Given the description of an element on the screen output the (x, y) to click on. 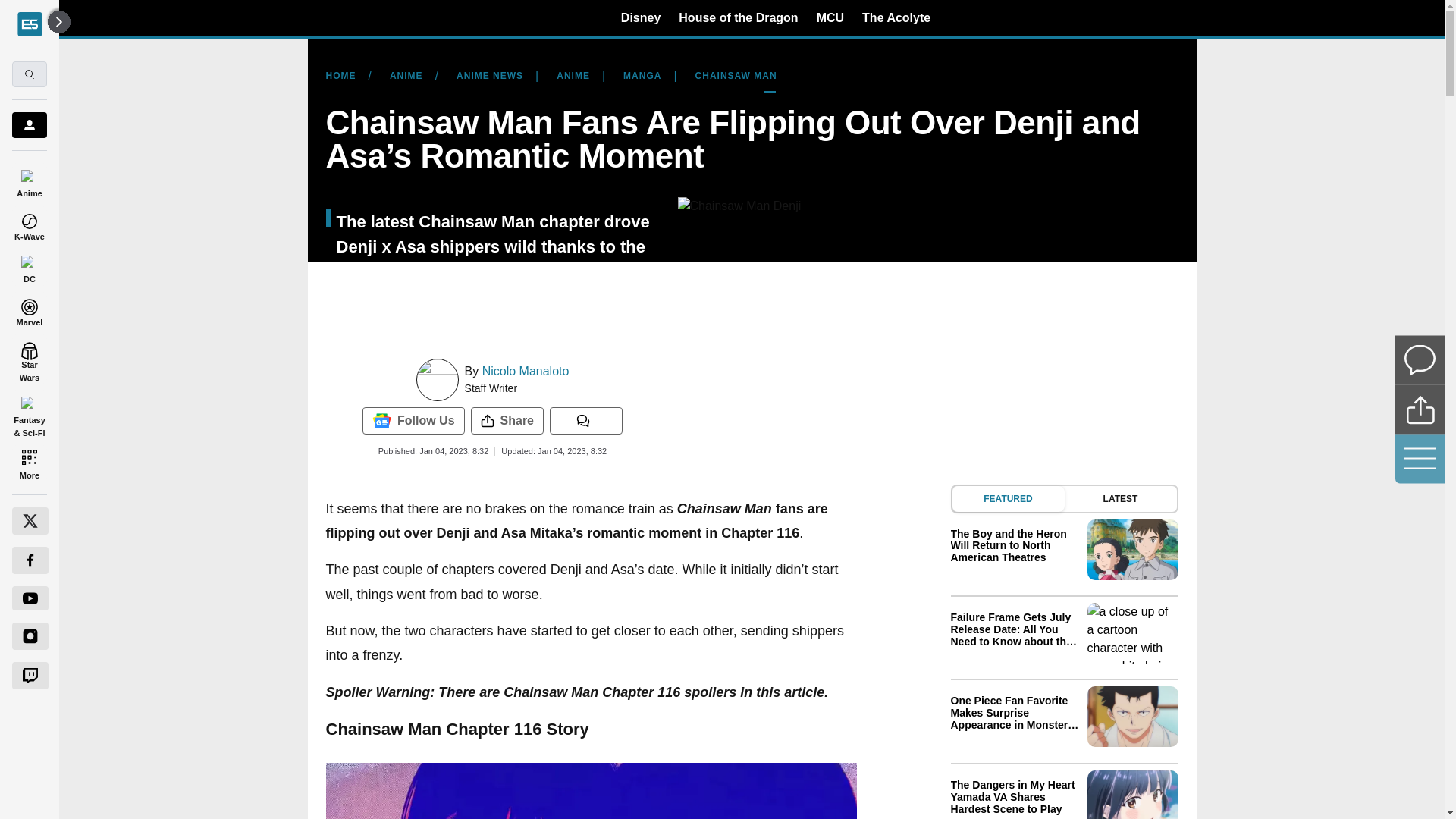
Anime (28, 180)
House of the Dragon (737, 18)
MCU (830, 18)
Marvel (28, 309)
K-Wave (28, 224)
The Acolyte (895, 18)
DC (28, 266)
More (28, 463)
Disney (641, 18)
